Given the description of an element on the screen output the (x, y) to click on. 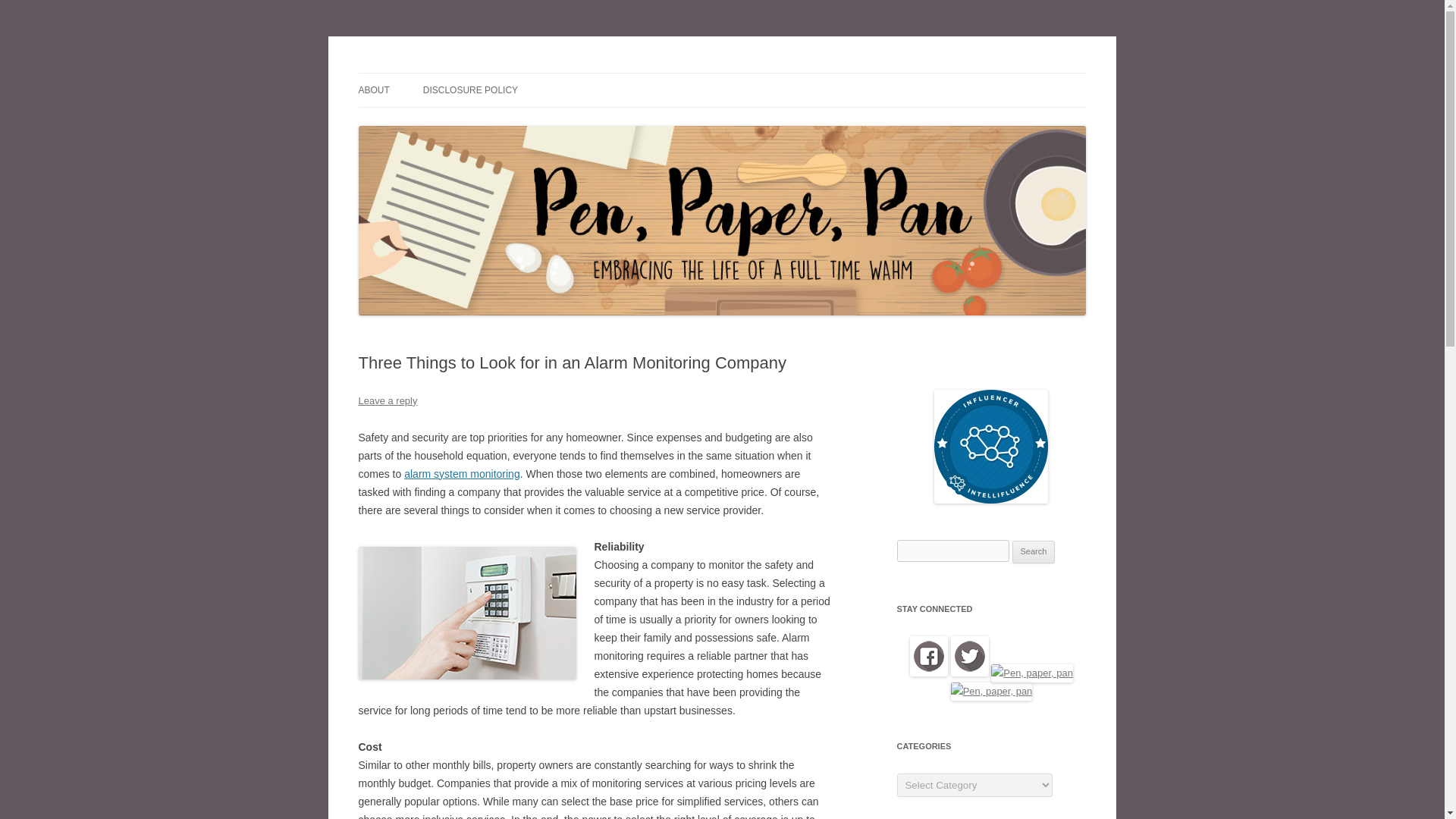
DISCLOSURE POLICY (470, 90)
Search (1033, 551)
ABOUT (373, 90)
Leave a reply (387, 400)
alarm system monitoring (461, 473)
Search (1033, 551)
Pen, Paper, Pan (431, 72)
